Given the description of an element on the screen output the (x, y) to click on. 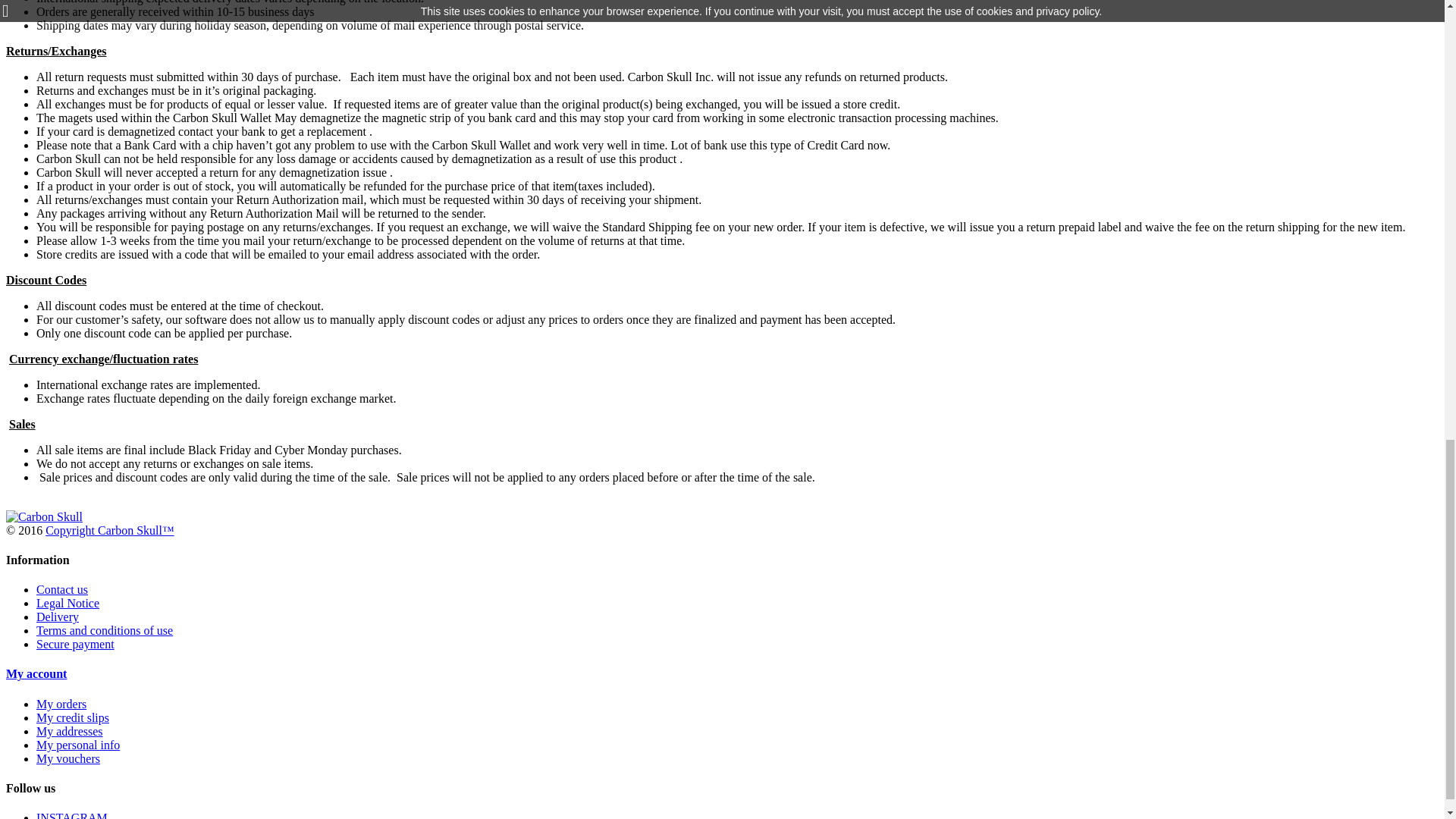
My vouchers (68, 758)
Contact us (61, 589)
Delivery (57, 616)
My account (35, 673)
My credit slips (72, 717)
Terms and conditions of use (104, 630)
Secure payment (75, 644)
My addresses (69, 730)
My orders (60, 703)
Legal Notice (67, 603)
My personal info (77, 744)
Legal Notice (67, 603)
Carbon Skull (43, 516)
Contact us (61, 589)
